Given the description of an element on the screen output the (x, y) to click on. 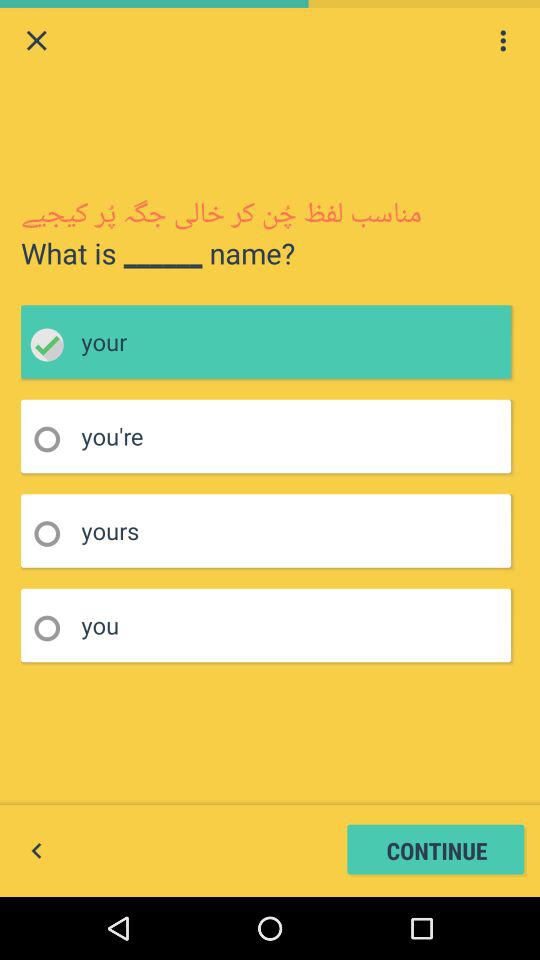
radio botton (53, 439)
